Given the description of an element on the screen output the (x, y) to click on. 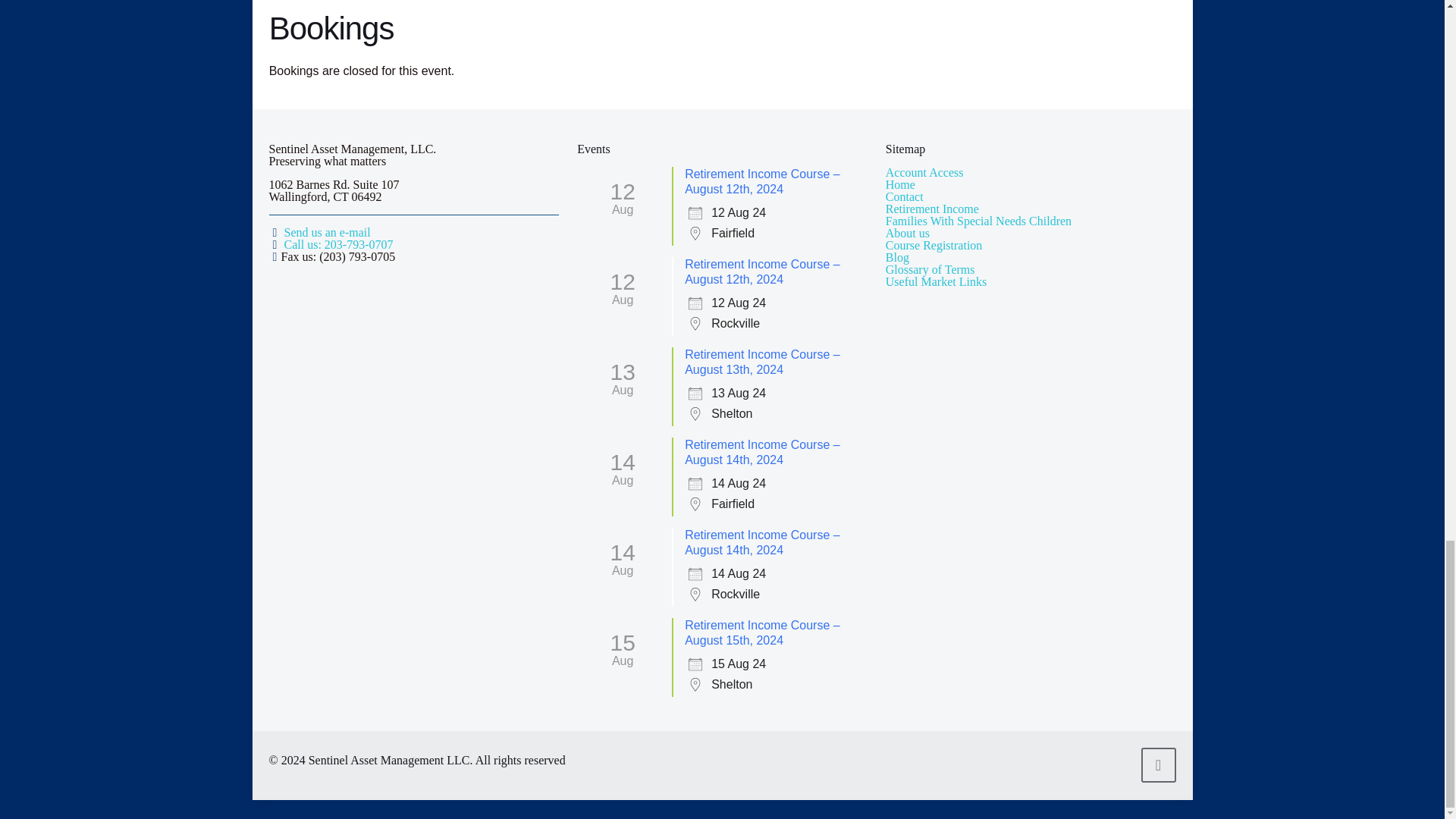
YouTube (1088, 760)
Account Access (924, 172)
Send us an e-mail (326, 232)
Pinterest (1103, 760)
Instagram (1120, 760)
Home (900, 184)
Facebook (1056, 760)
Call us: 203-793-0707 (338, 244)
